Given the description of an element on the screen output the (x, y) to click on. 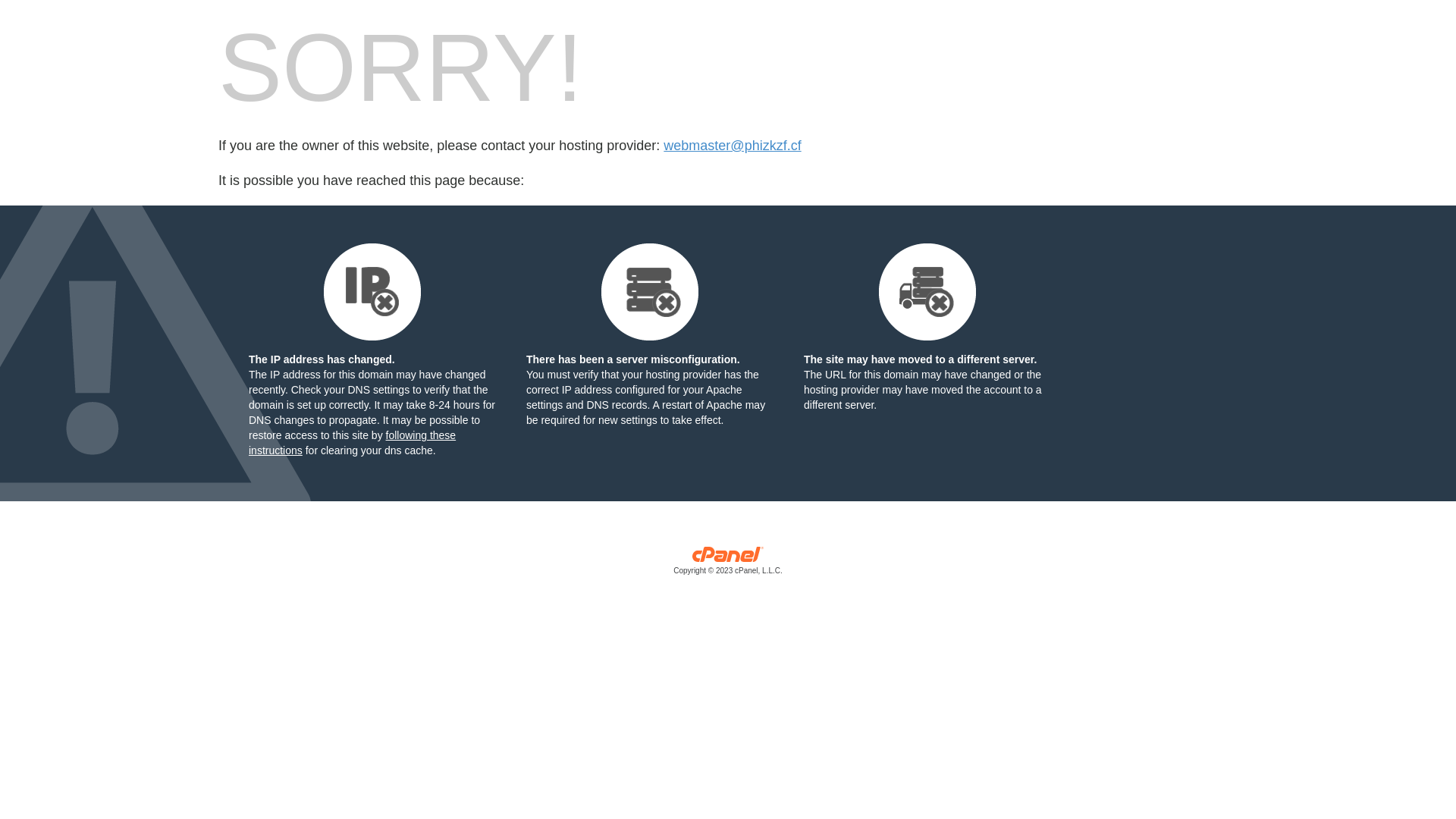
following these instructions Element type: text (351, 442)
webmaster@phizkzf.cf Element type: text (731, 145)
